Given the description of an element on the screen output the (x, y) to click on. 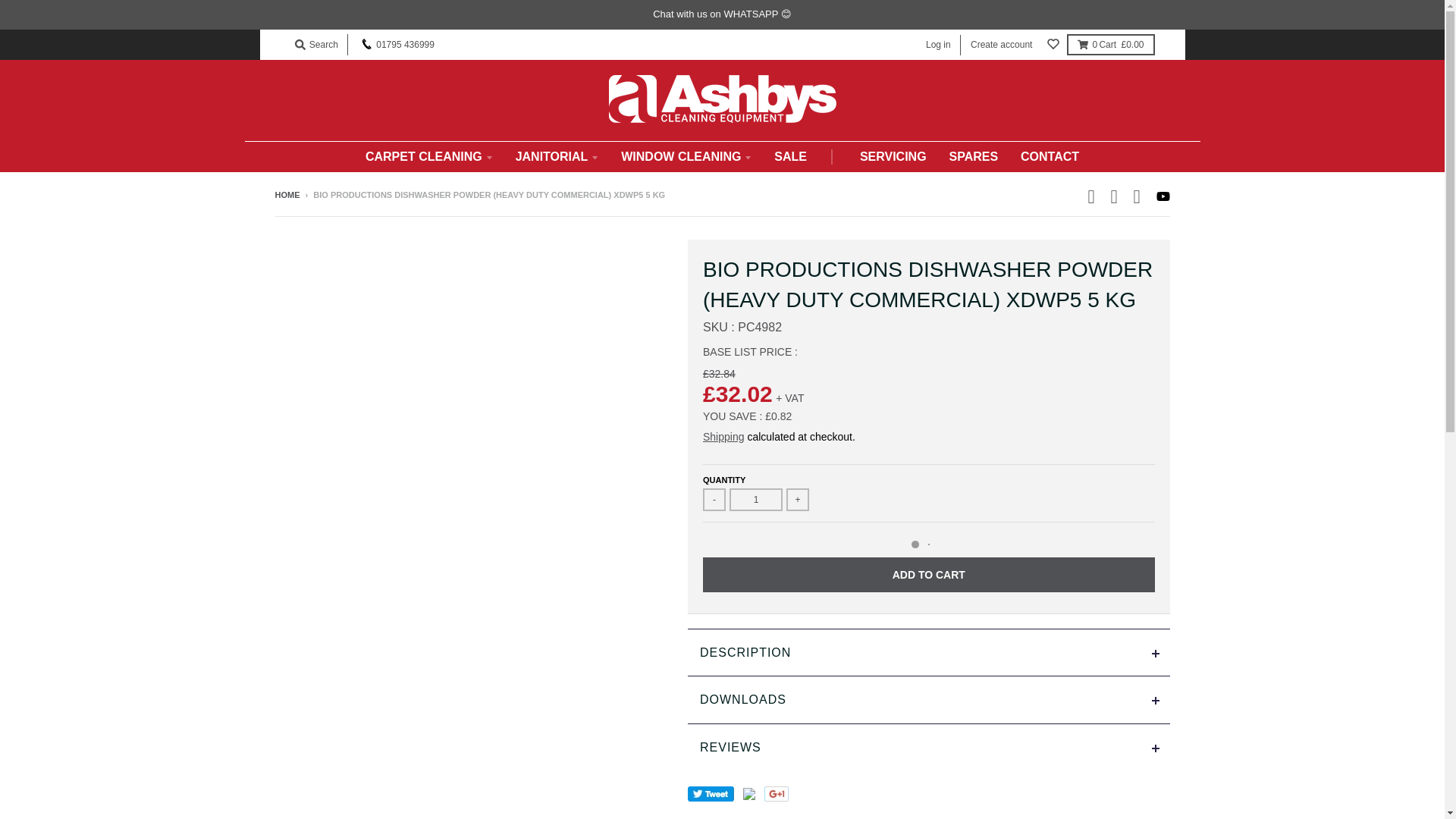
Back to the frontpage (287, 194)
Twitter - Ashbys Cleaning Equipment (1139, 193)
Search (315, 44)
Create account (1001, 45)
Log in (938, 45)
01795 436999 (397, 44)
CARPET CLEANING (428, 156)
Instagram - Ashbys Cleaning Equipment (1116, 193)
Facebook - Ashbys Cleaning Equipment (1093, 193)
1 (756, 499)
YouTube - Ashbys Cleaning Equipment (1162, 196)
